Given the description of an element on the screen output the (x, y) to click on. 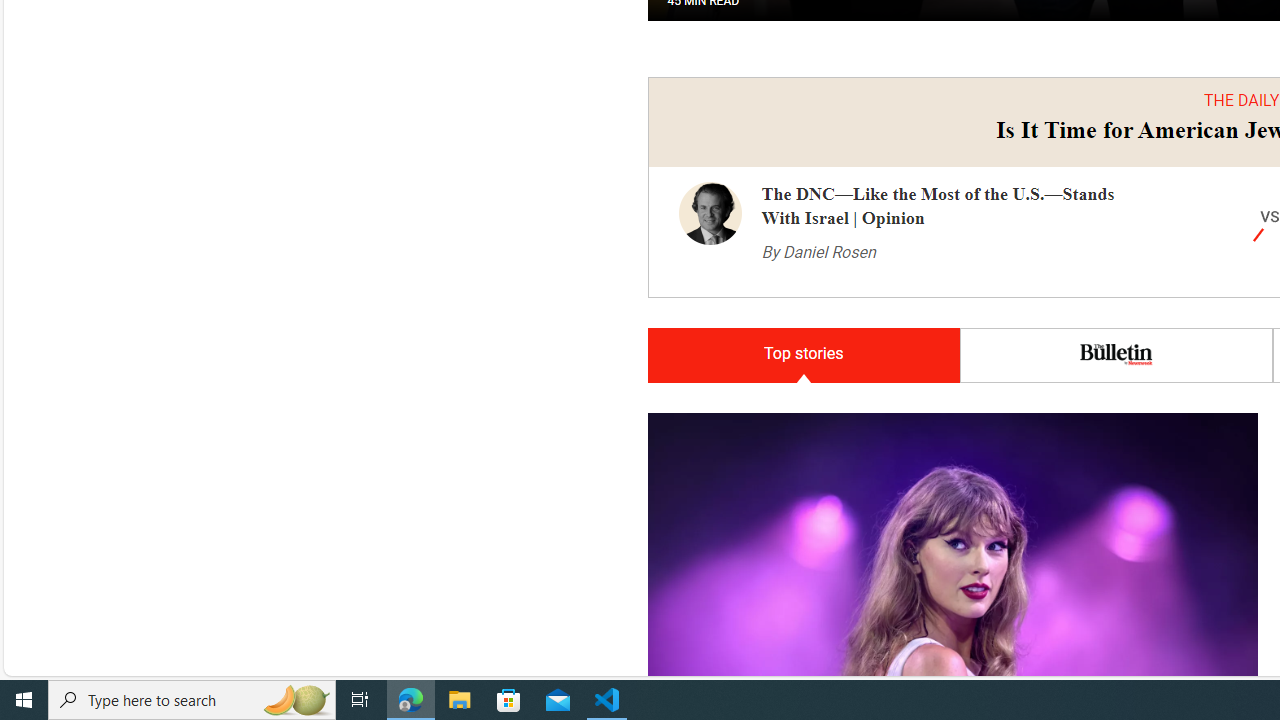
Search highlights icon opens search home window (295, 699)
Start (24, 699)
Visual Studio Code - 1 running window (607, 699)
Task View (359, 699)
Microsoft Store (509, 699)
Top stories (803, 315)
File Explorer (460, 699)
Why Taylor Swift is in a Pentagon Intelligence Report (923, 408)
Microsoft Edge - 1 running window (411, 699)
By Daniel Rosen (818, 212)
By Ken Klippenstein (708, 513)
